Given the description of an element on the screen output the (x, y) to click on. 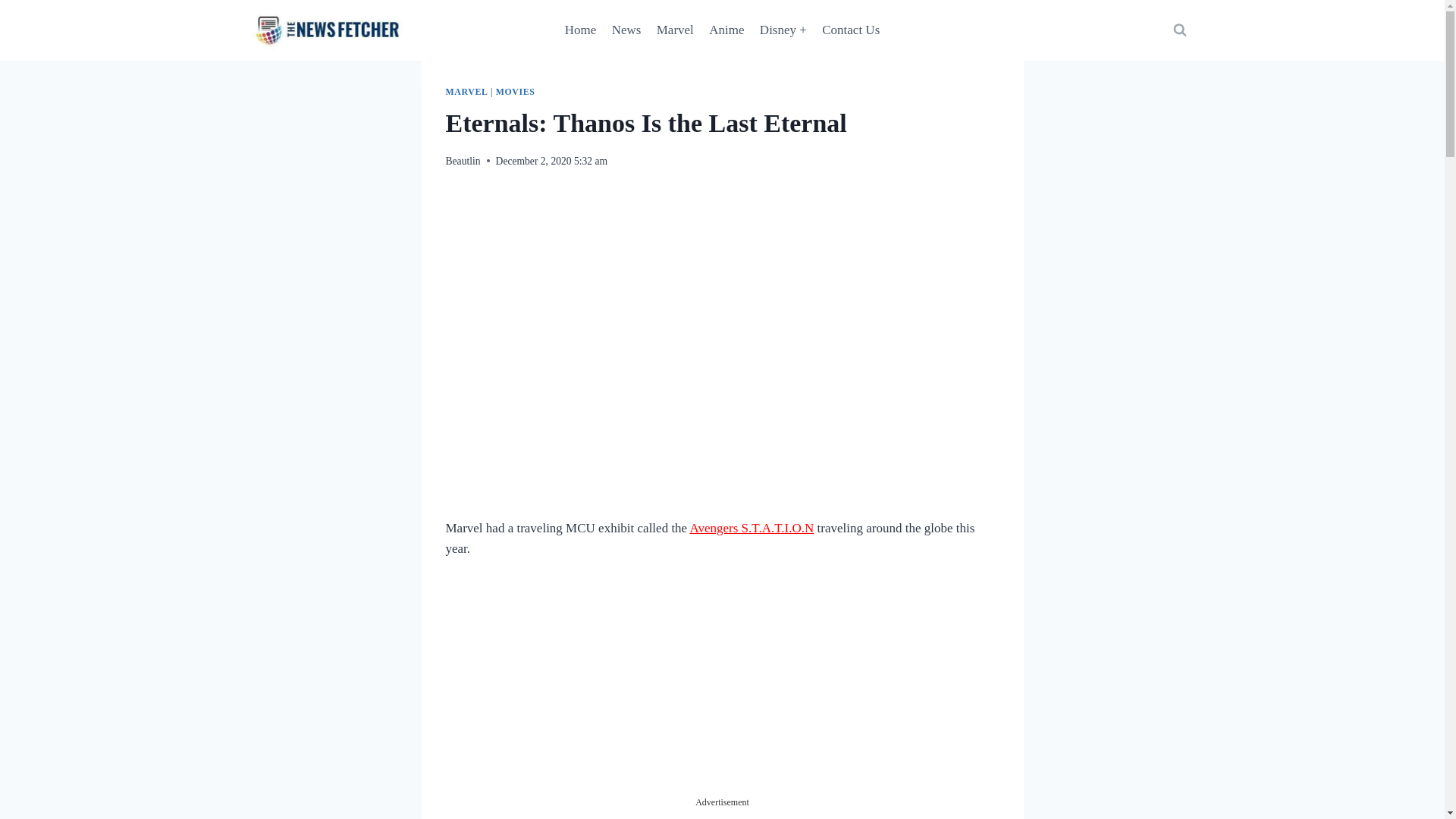
Home (580, 30)
Anime (726, 30)
Contact Us (849, 30)
MARVEL (466, 91)
Marvel (675, 30)
Beautlin (462, 161)
Advertisement (720, 689)
Avengers S.T.A.T.I.O.N (750, 527)
News (625, 30)
MOVIES (515, 91)
